Given the description of an element on the screen output the (x, y) to click on. 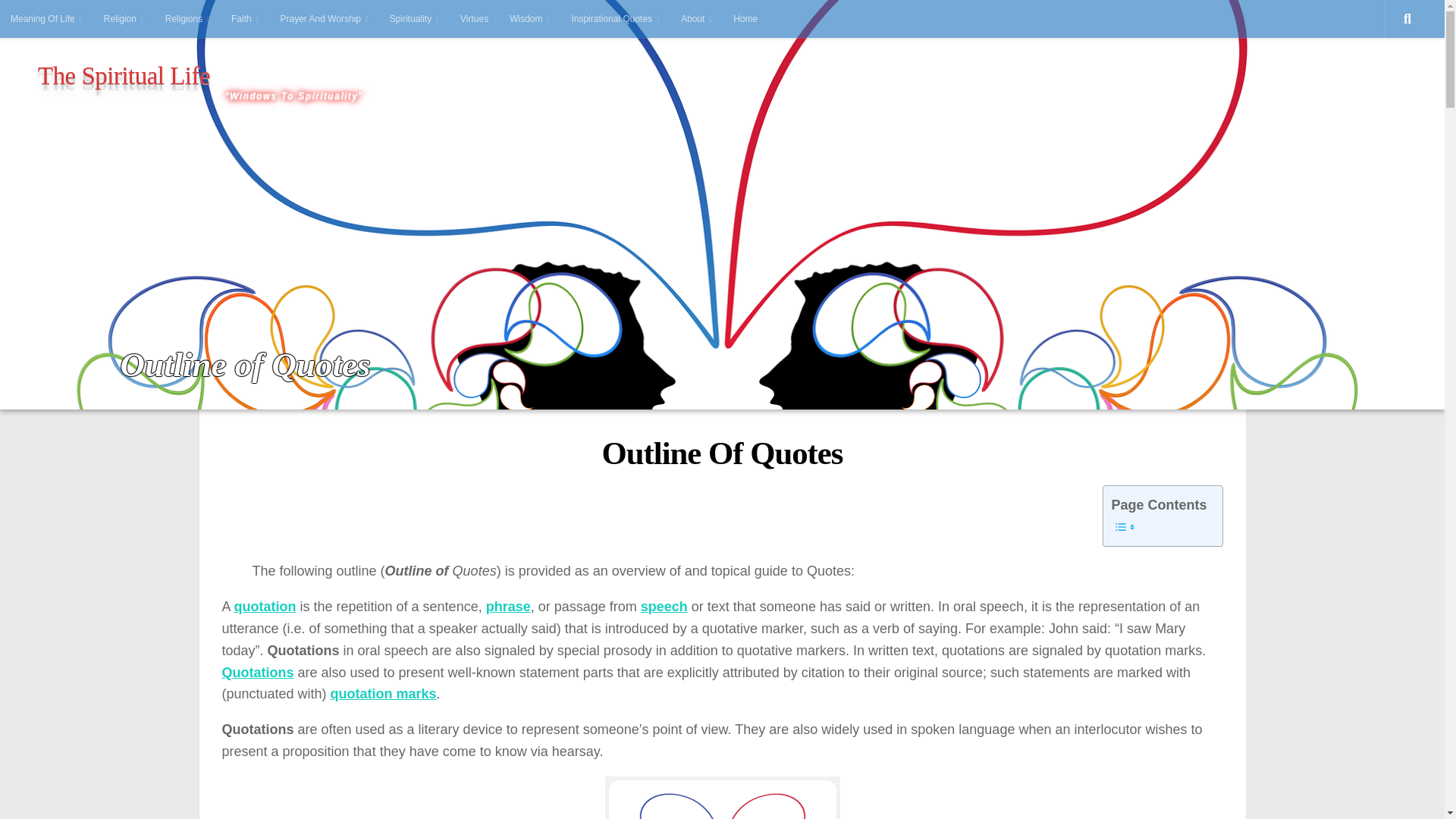
Skip to content (52, 19)
